Given the description of an element on the screen output the (x, y) to click on. 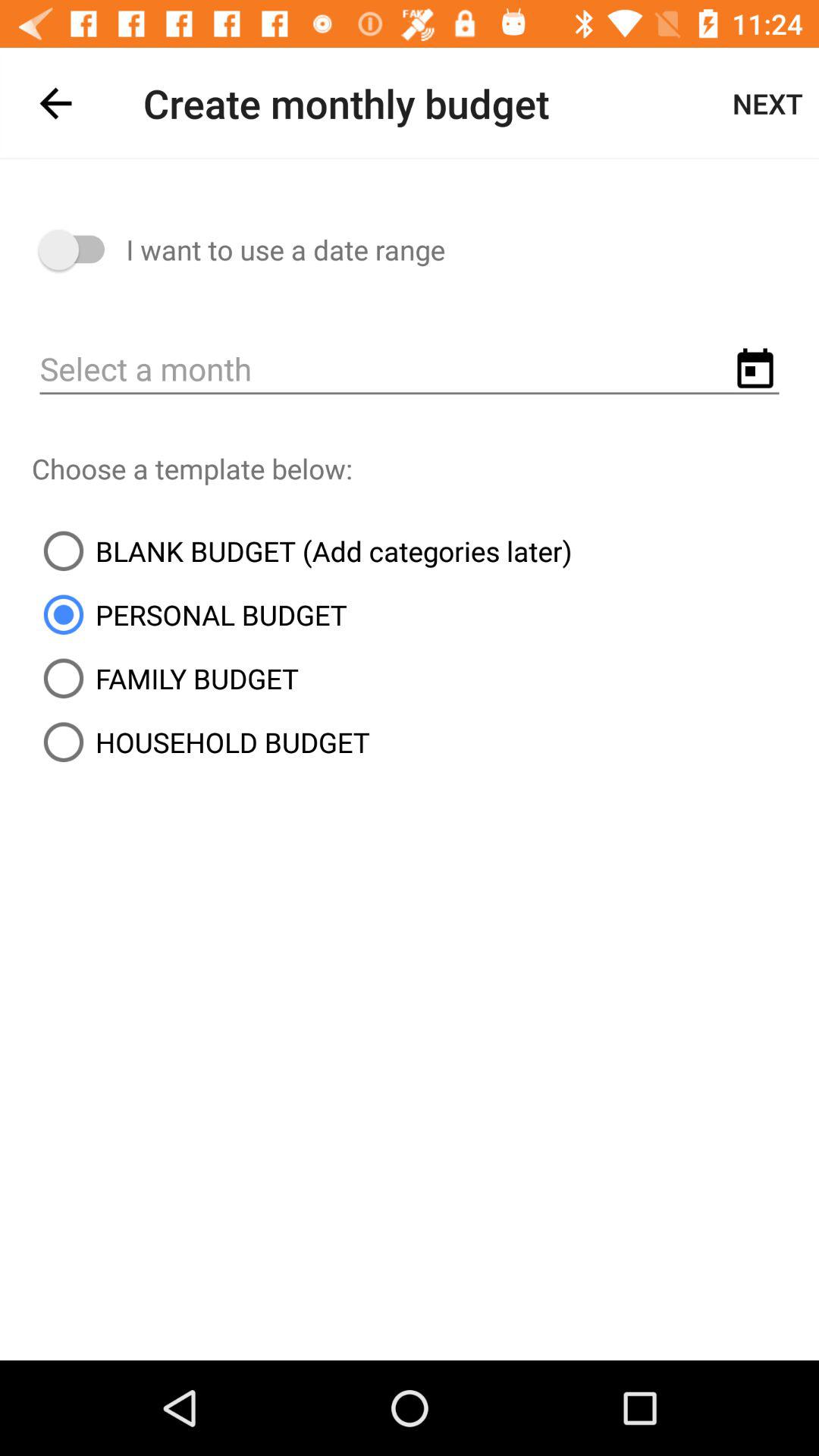
scroll to family budget item (164, 678)
